Given the description of an element on the screen output the (x, y) to click on. 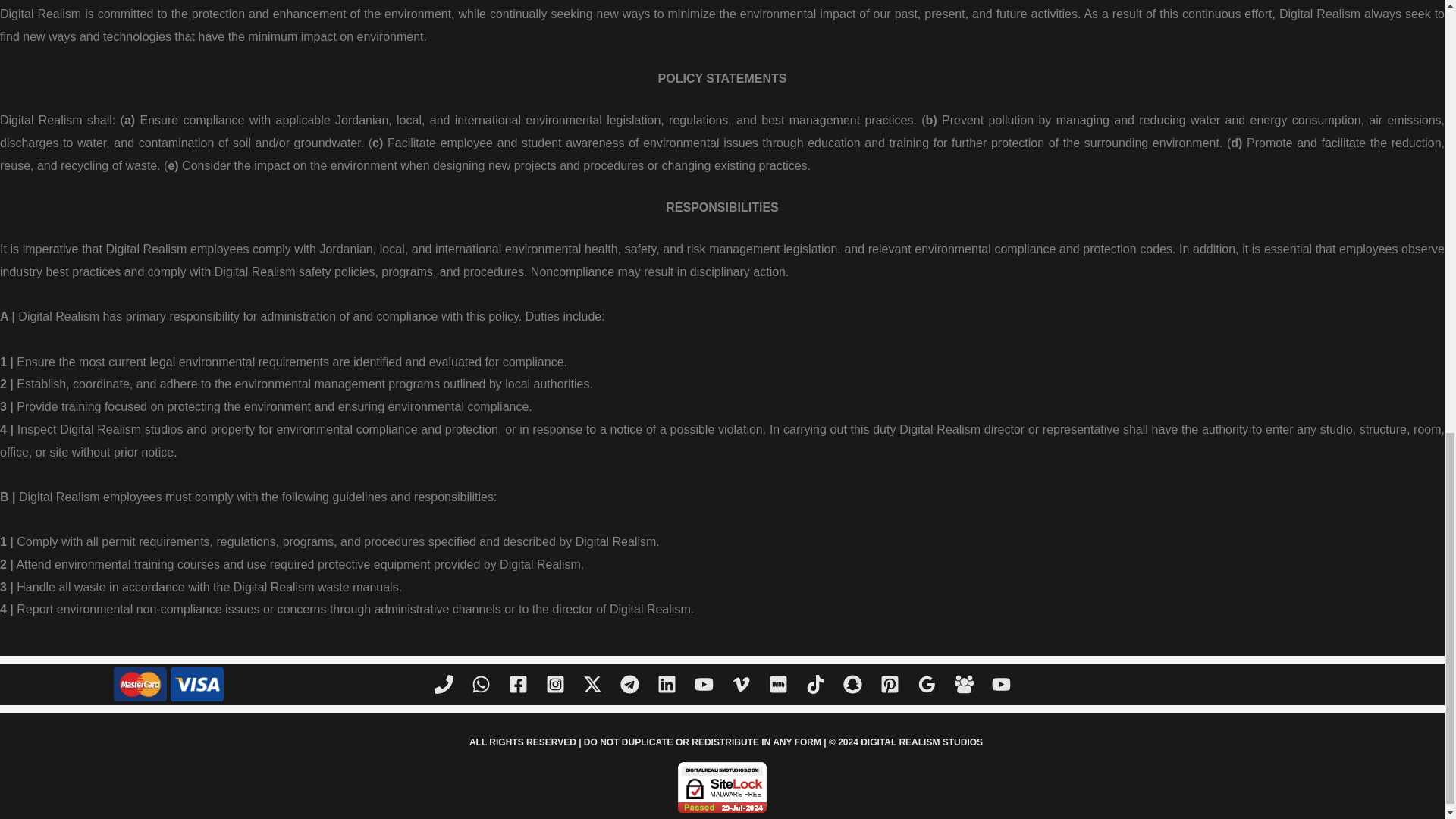
SiteLock (722, 787)
